Given the description of an element on the screen output the (x, y) to click on. 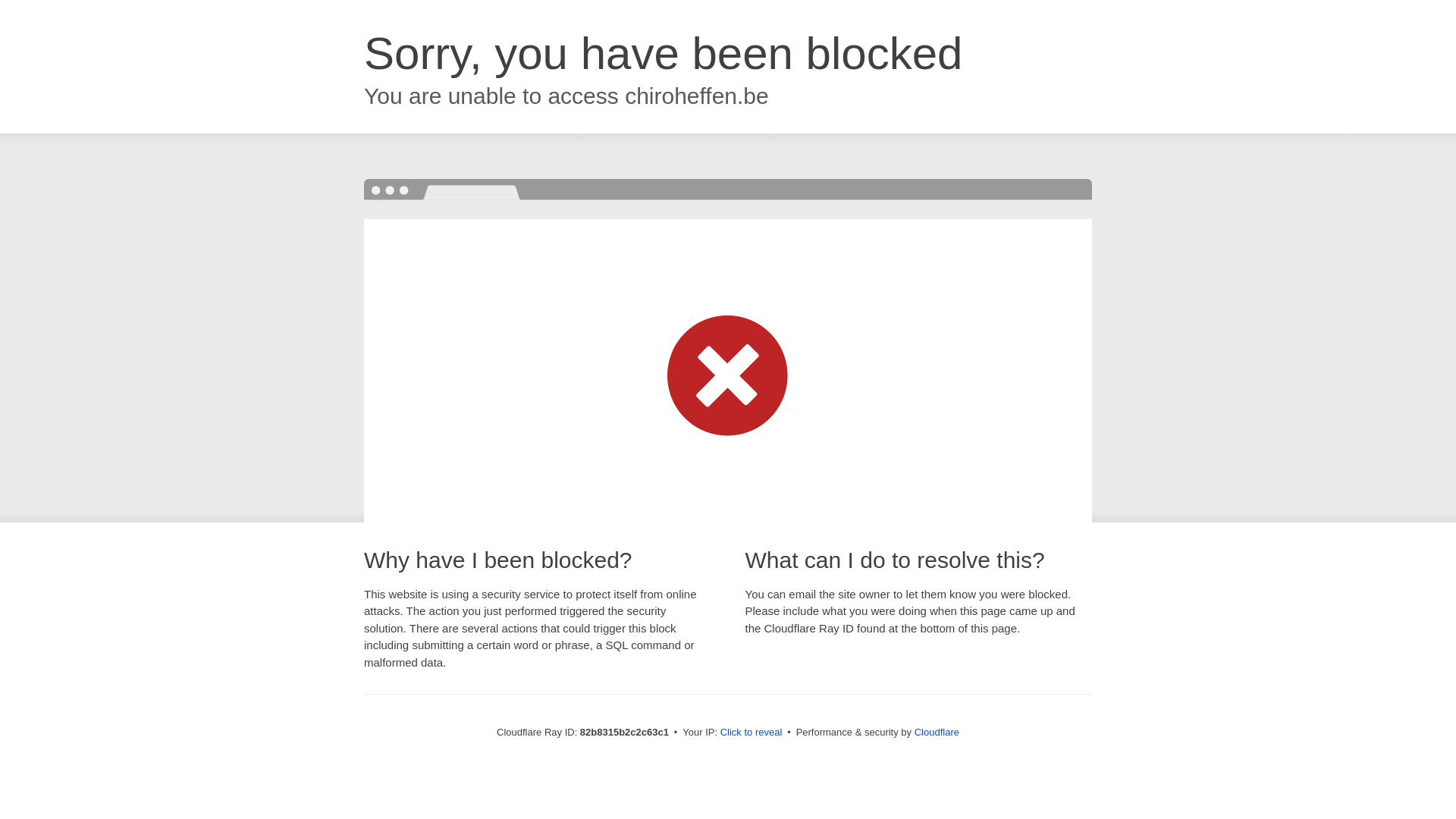
Click to reveal Element type: text (751, 732)
Cloudflare Element type: text (936, 731)
